Given the description of an element on the screen output the (x, y) to click on. 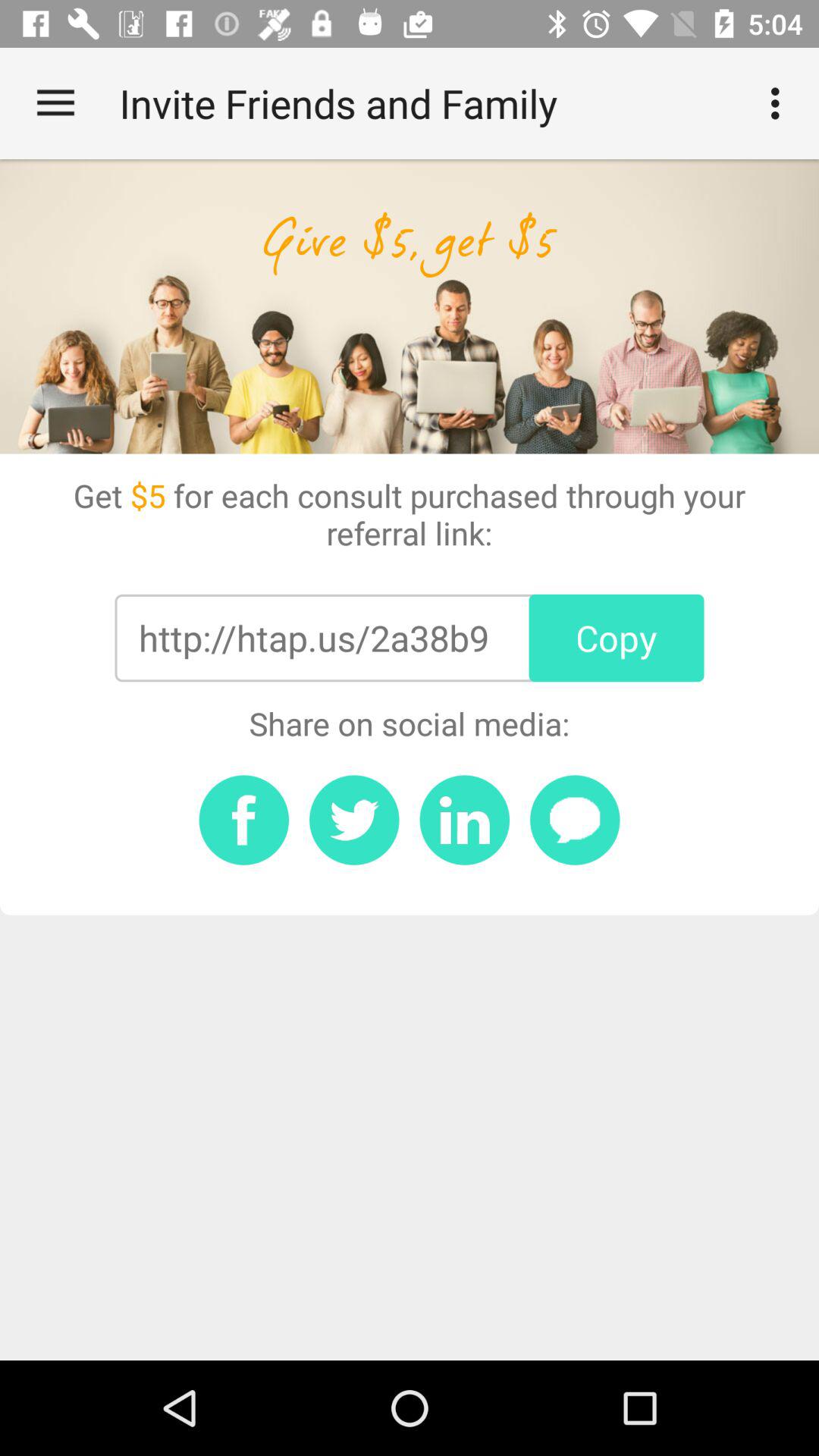
open the item above share on social (313, 637)
